Given the description of an element on the screen output the (x, y) to click on. 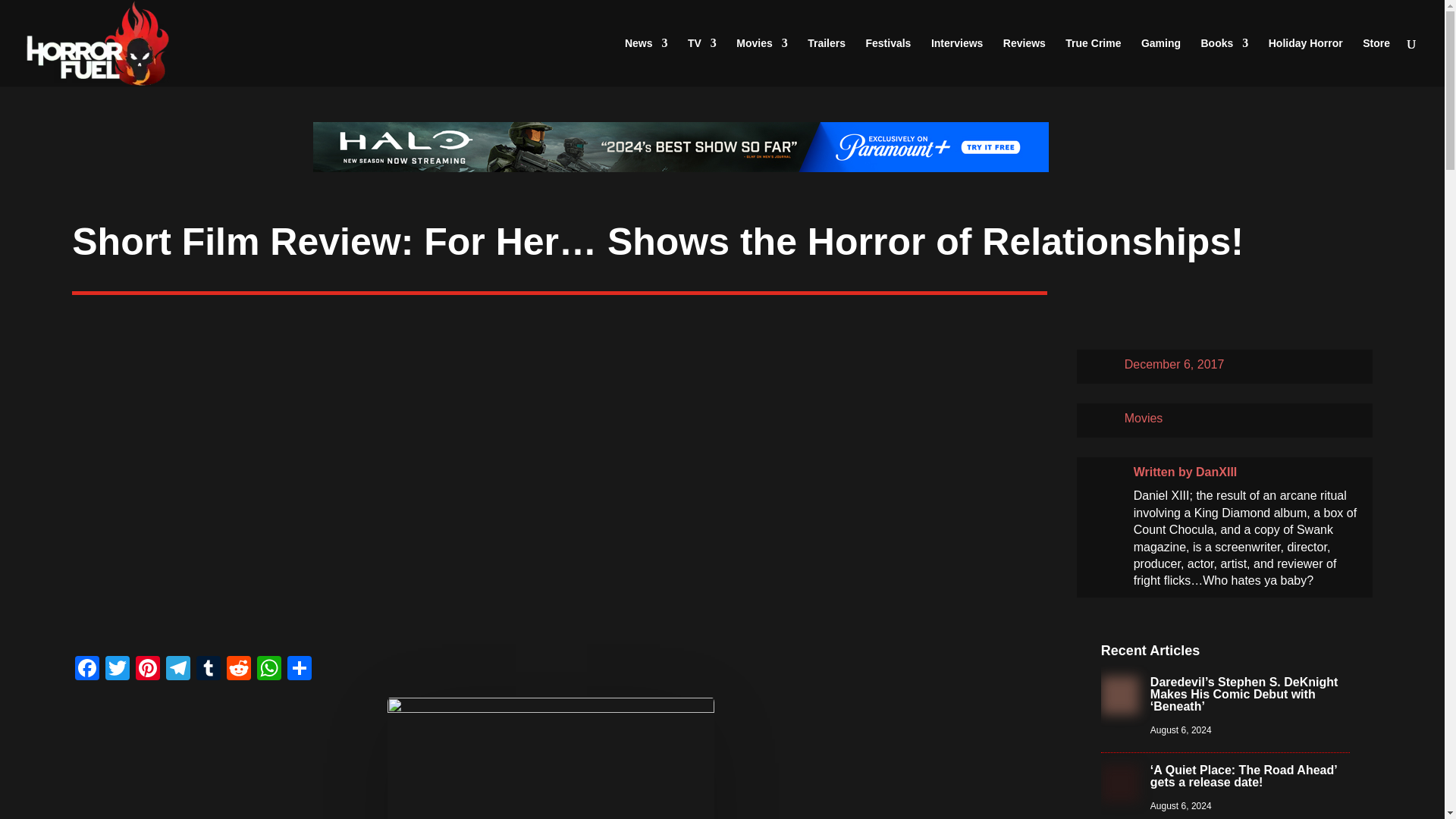
Movies (761, 61)
Tumblr (208, 669)
Twitter (116, 669)
Festivals (887, 61)
News (646, 61)
Telegram (178, 669)
Pinterest (147, 669)
Facebook (86, 669)
WhatsApp (268, 669)
Reddit (238, 669)
